Given the description of an element on the screen output the (x, y) to click on. 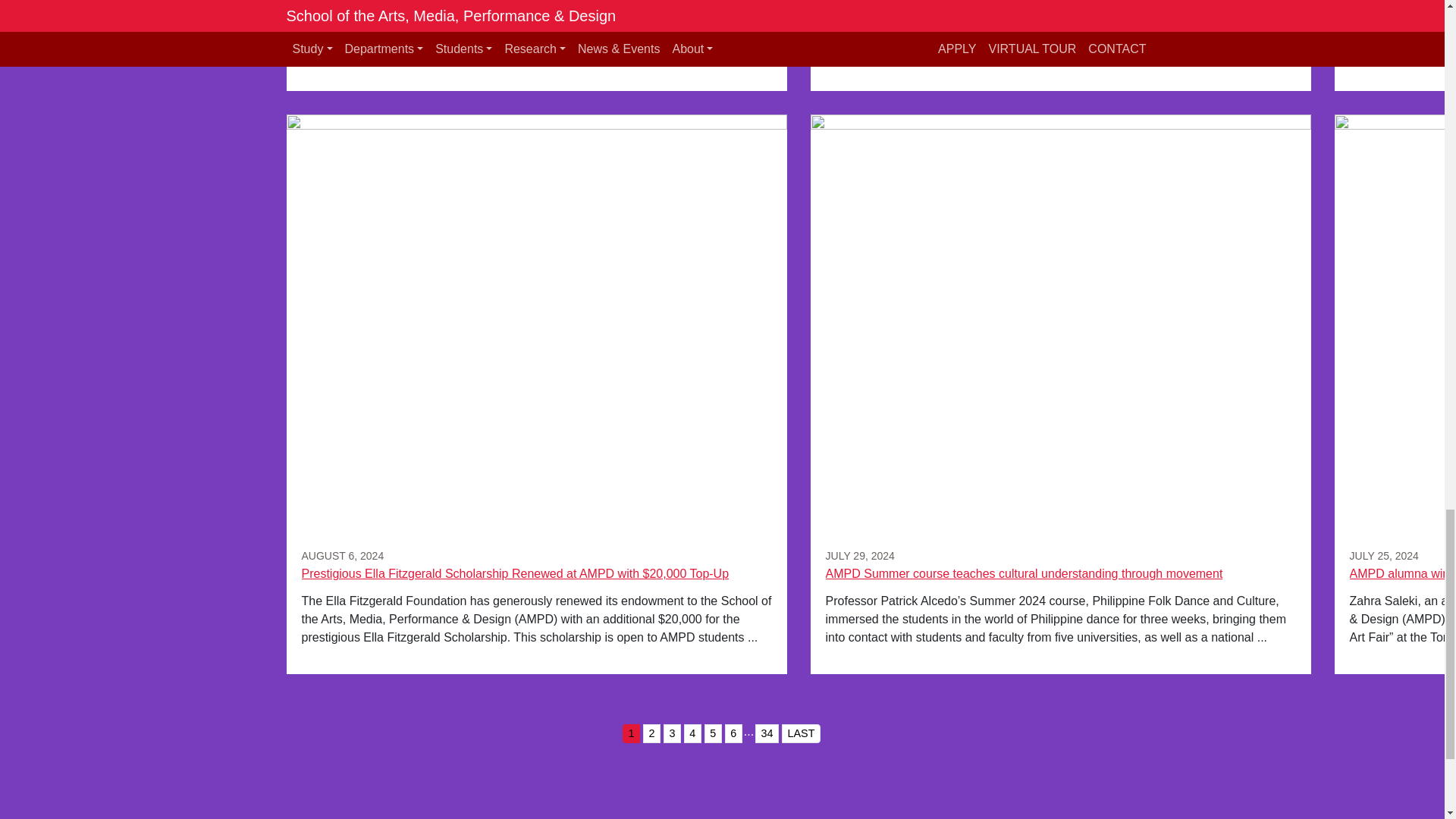
2 (652, 732)
6 (733, 732)
3 (672, 732)
5 (713, 732)
4 (692, 732)
34 (766, 732)
